Given the description of an element on the screen output the (x, y) to click on. 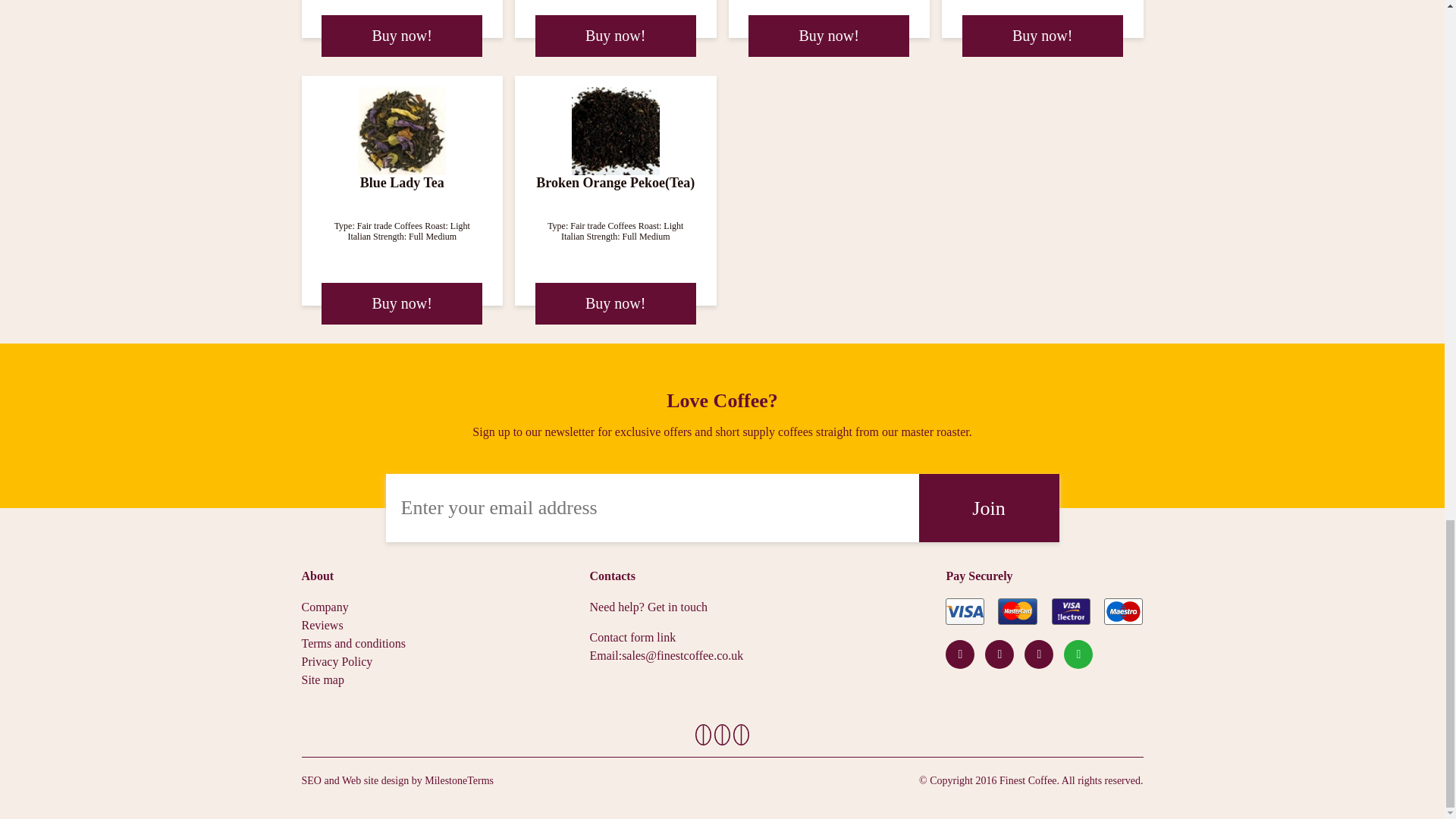
Blackcurrant Tea (1041, 35)
Join (988, 508)
